Given the description of an element on the screen output the (x, y) to click on. 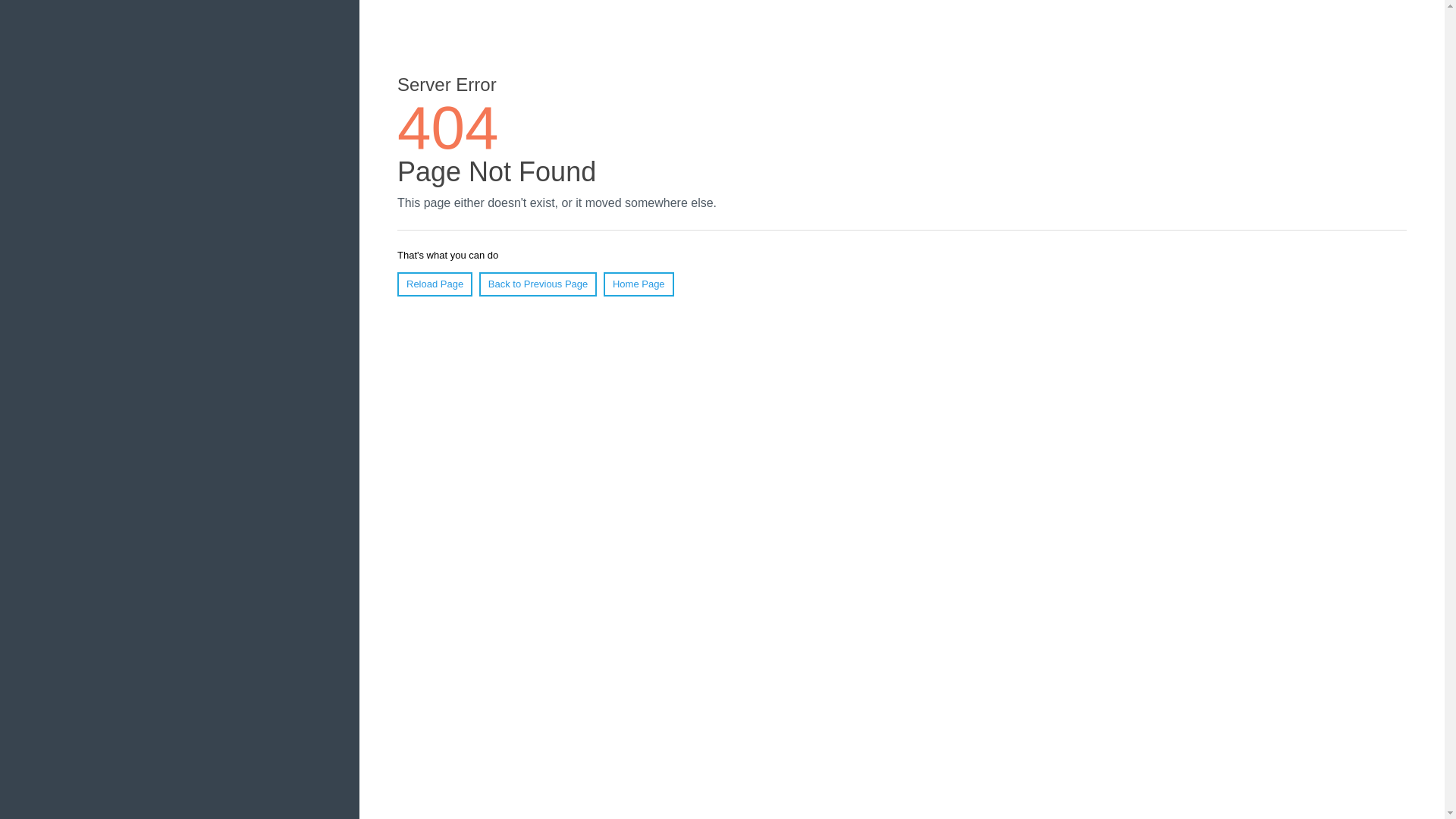
Home Page Element type: text (638, 284)
Back to Previous Page Element type: text (538, 284)
Reload Page Element type: text (434, 284)
